Given the description of an element on the screen output the (x, y) to click on. 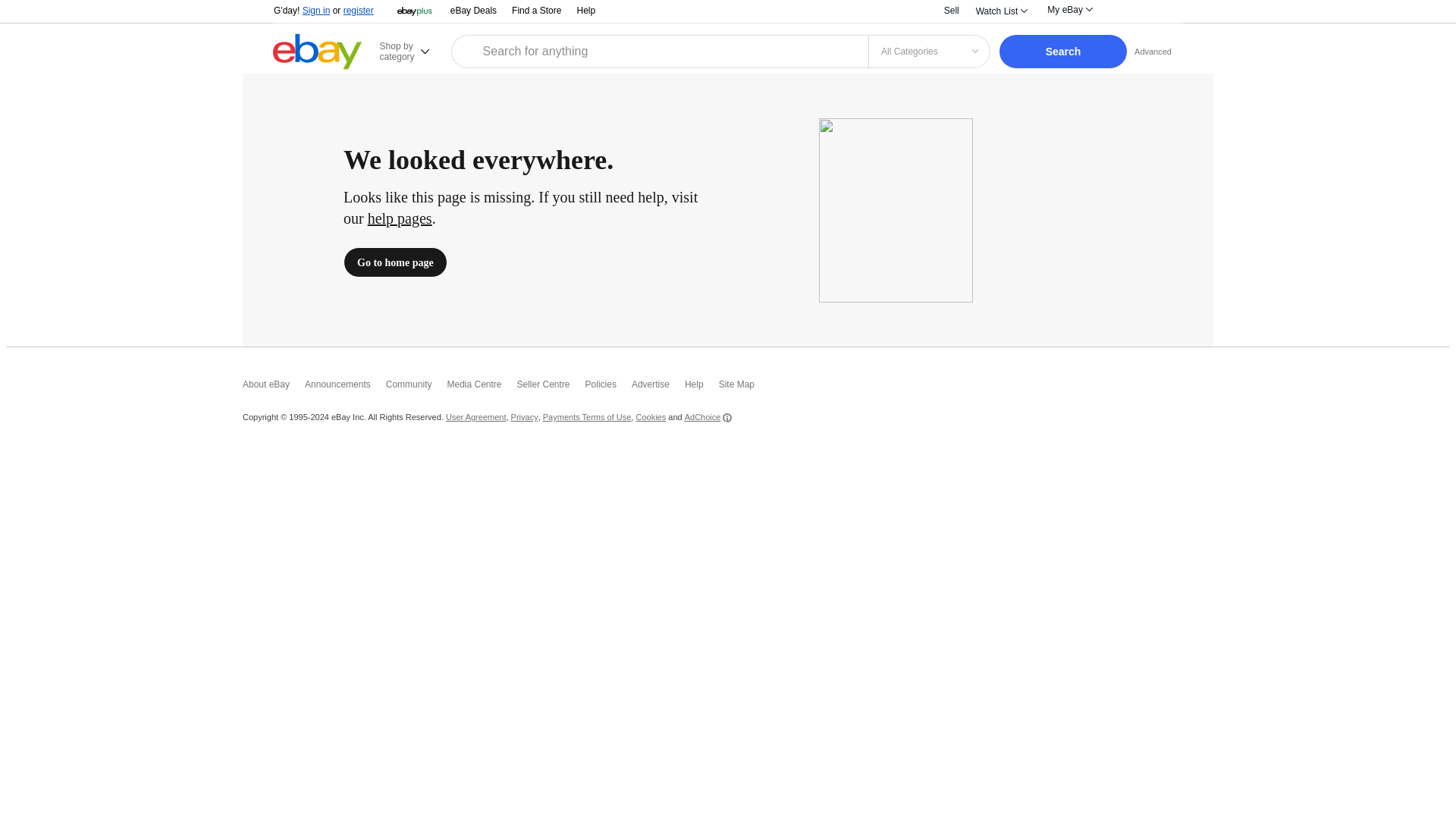
Community (415, 388)
Advanced search (1152, 51)
Seller Centre (550, 388)
Watch List (1001, 10)
My eBay (1069, 9)
Shop by category (413, 51)
About eBay (273, 388)
Search (1062, 51)
Notifications (1122, 11)
My eBay (1069, 9)
eBay Deals (472, 11)
Sign in (316, 9)
register (358, 9)
Find a Store (536, 11)
Help (585, 9)
